Given the description of an element on the screen output the (x, y) to click on. 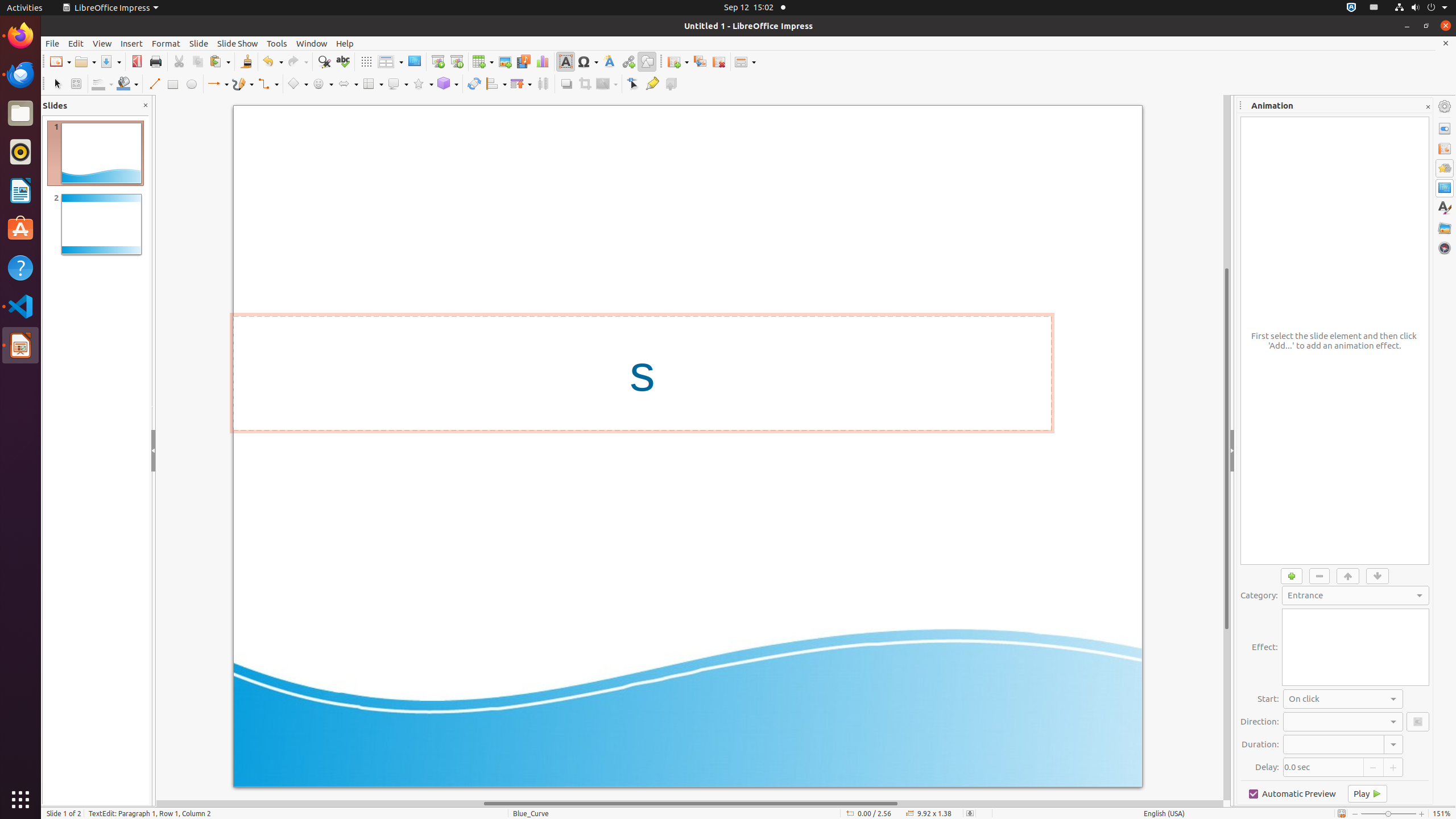
Show Applications Element type: toggle-button (20, 799)
Toggle Extrusion Element type: push-button (670, 83)
Properties Element type: radio-button (1444, 128)
LibreOffice Impress Element type: push-button (20, 344)
Navigator Element type: radio-button (1444, 247)
